Given the description of an element on the screen output the (x, y) to click on. 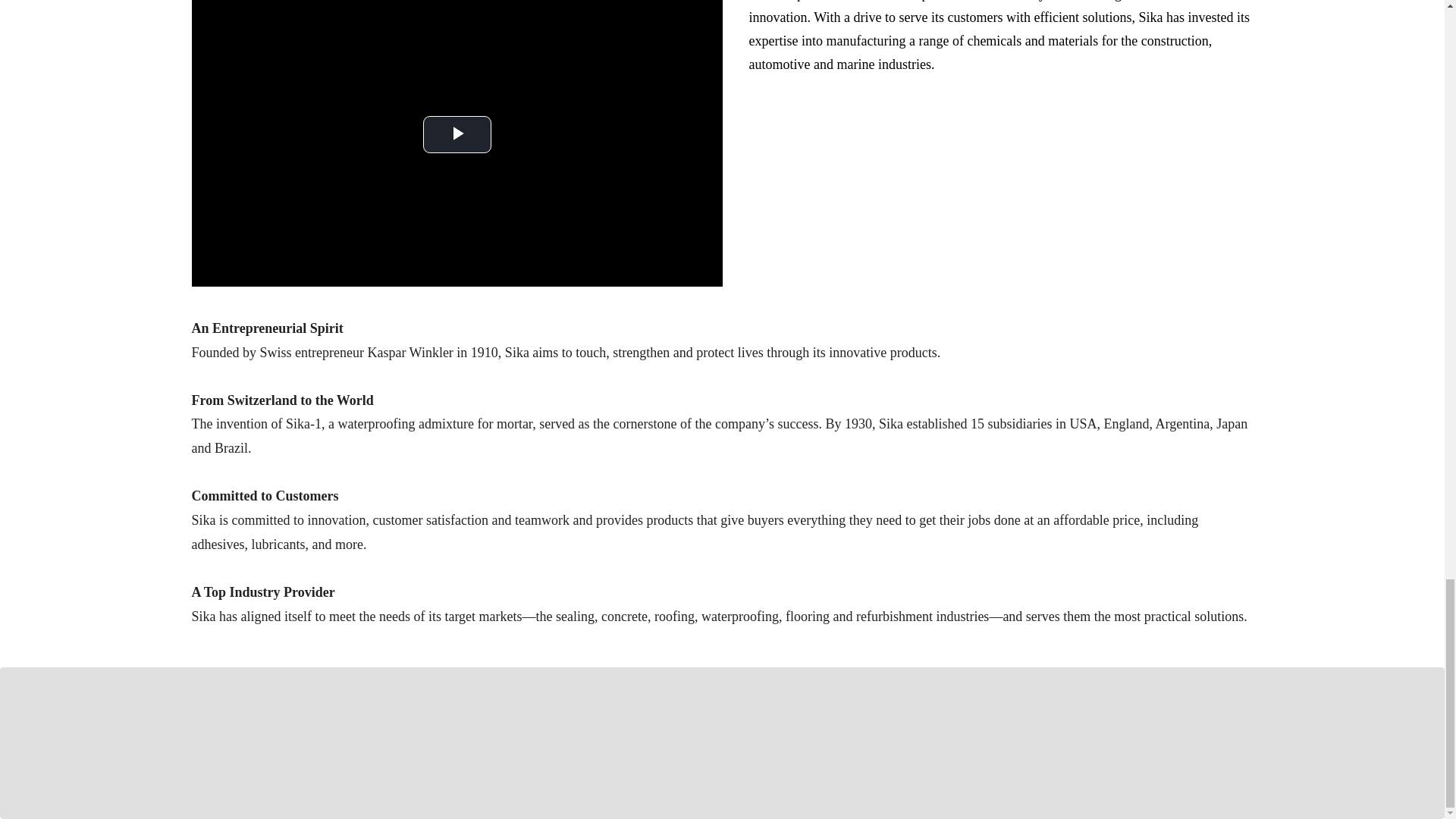
Play Video (457, 134)
